Given the description of an element on the screen output the (x, y) to click on. 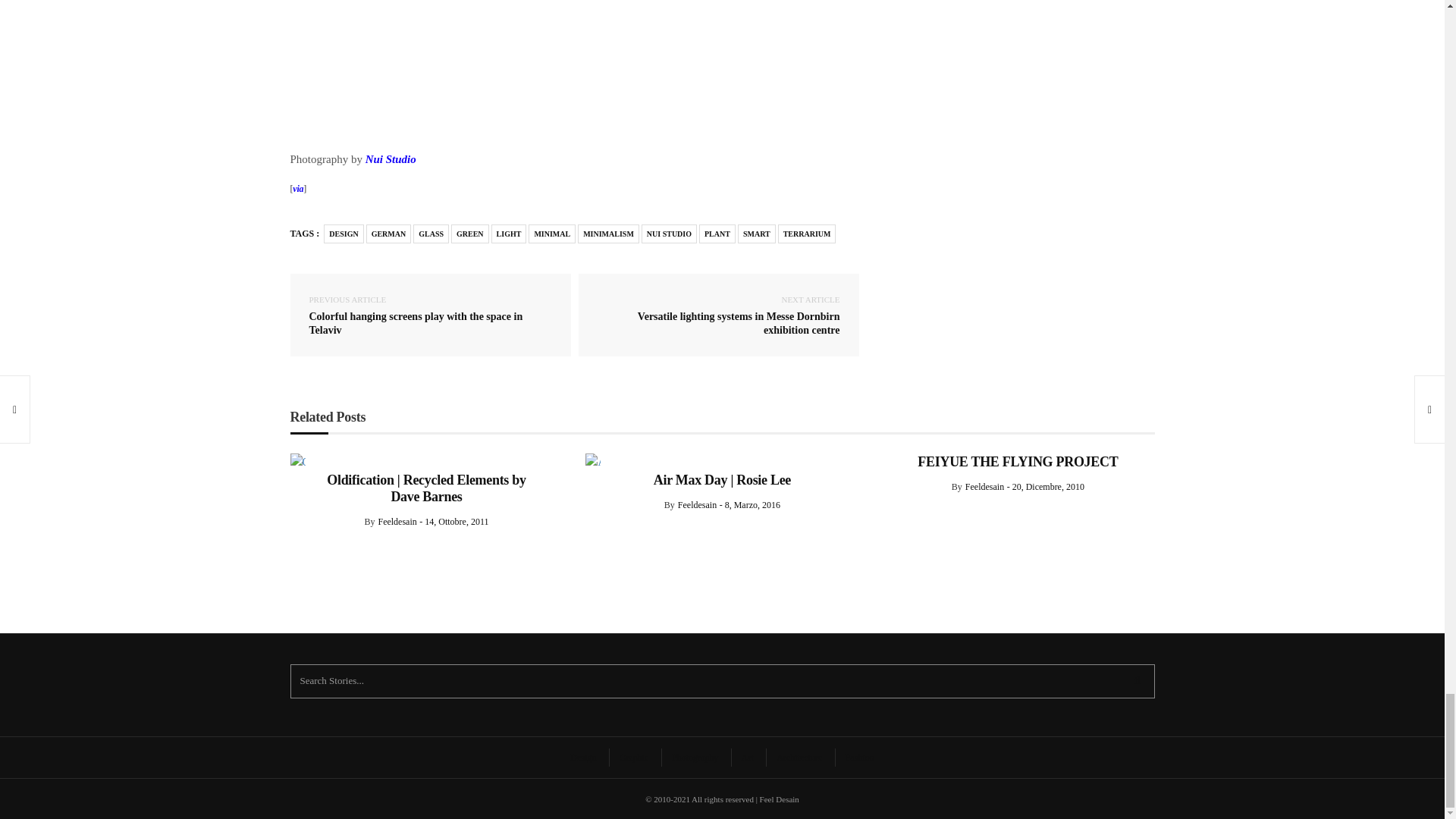
via (297, 188)
GLASS (430, 233)
Nui Studio (390, 159)
GERMAN (389, 233)
DESIGN (342, 233)
